Given the description of an element on the screen output the (x, y) to click on. 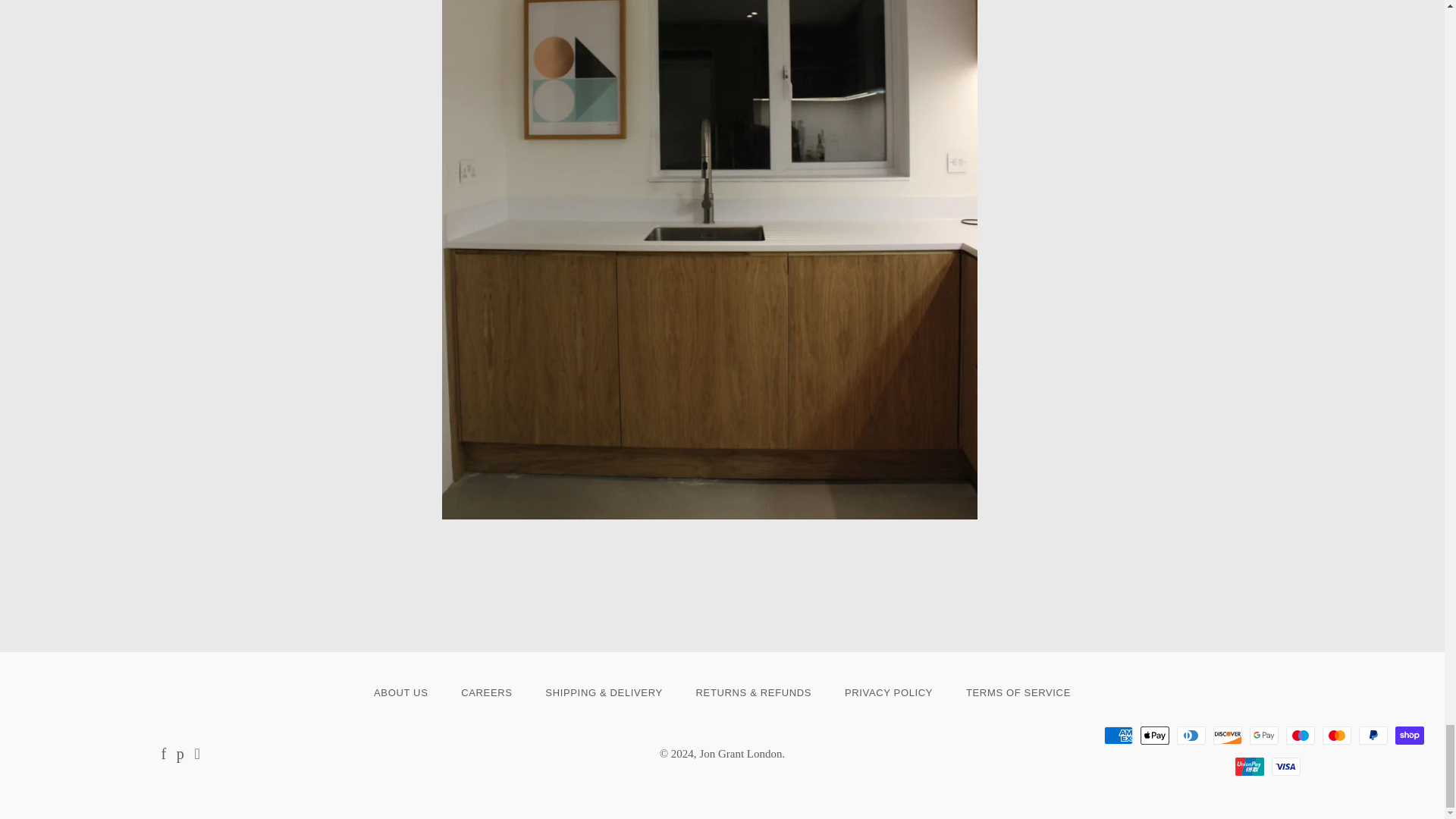
American Express (1117, 735)
Mastercard (1336, 735)
Maestro (1299, 735)
Apple Pay (1154, 735)
Google Pay (1263, 735)
Visa (1285, 766)
PayPal (1372, 735)
Union Pay (1248, 766)
Discover (1226, 735)
Shop Pay (1408, 735)
